Given the description of an element on the screen output the (x, y) to click on. 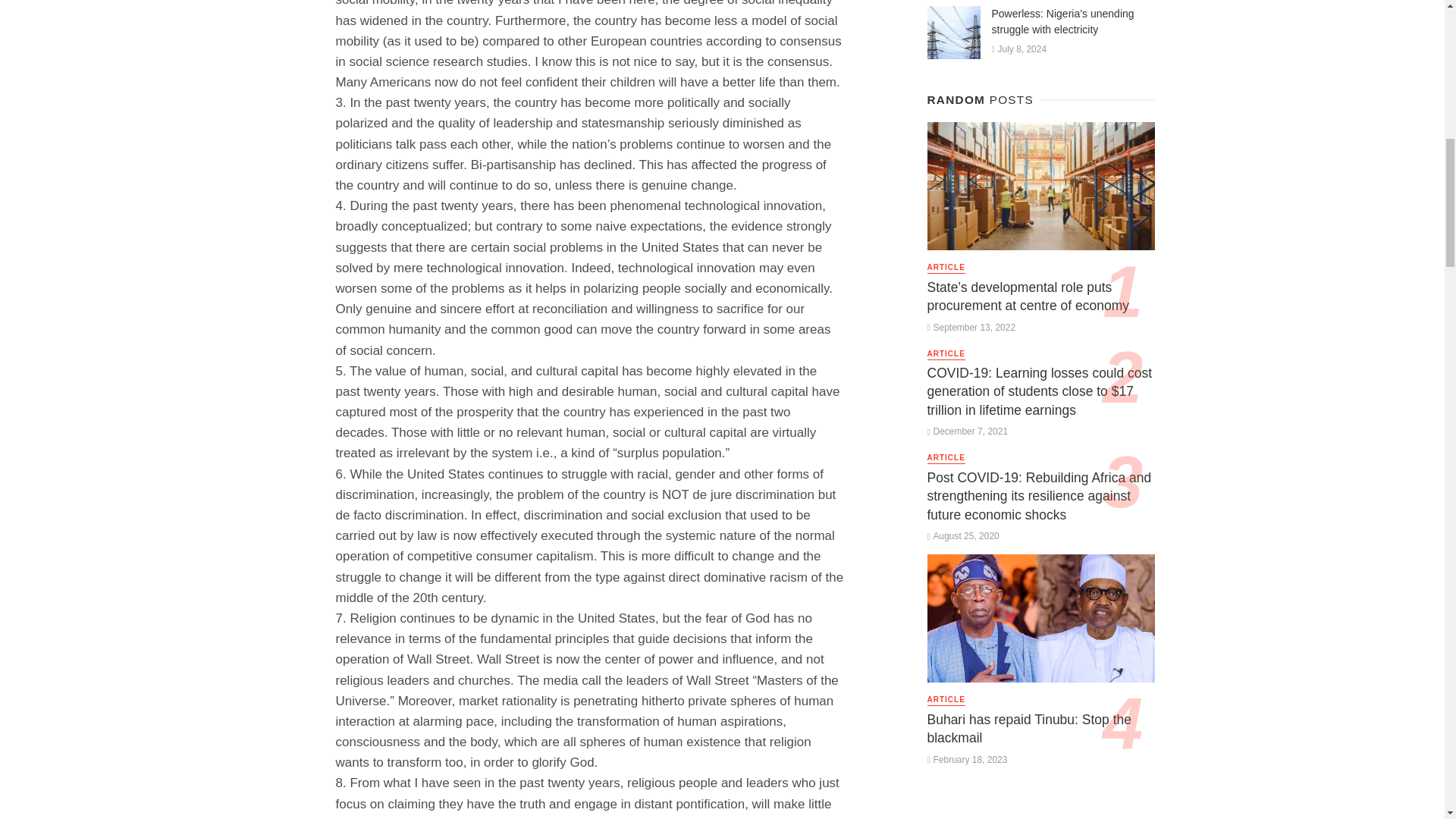
July 8, 2024 at 2:07 pm (1018, 49)
September 13, 2022 at 1:20 pm (970, 326)
August 25, 2020 at 5:33 am (962, 535)
February 18, 2023 at 11:59 am (966, 759)
December 7, 2021 at 5:02 am (966, 430)
